Given the description of an element on the screen output the (x, y) to click on. 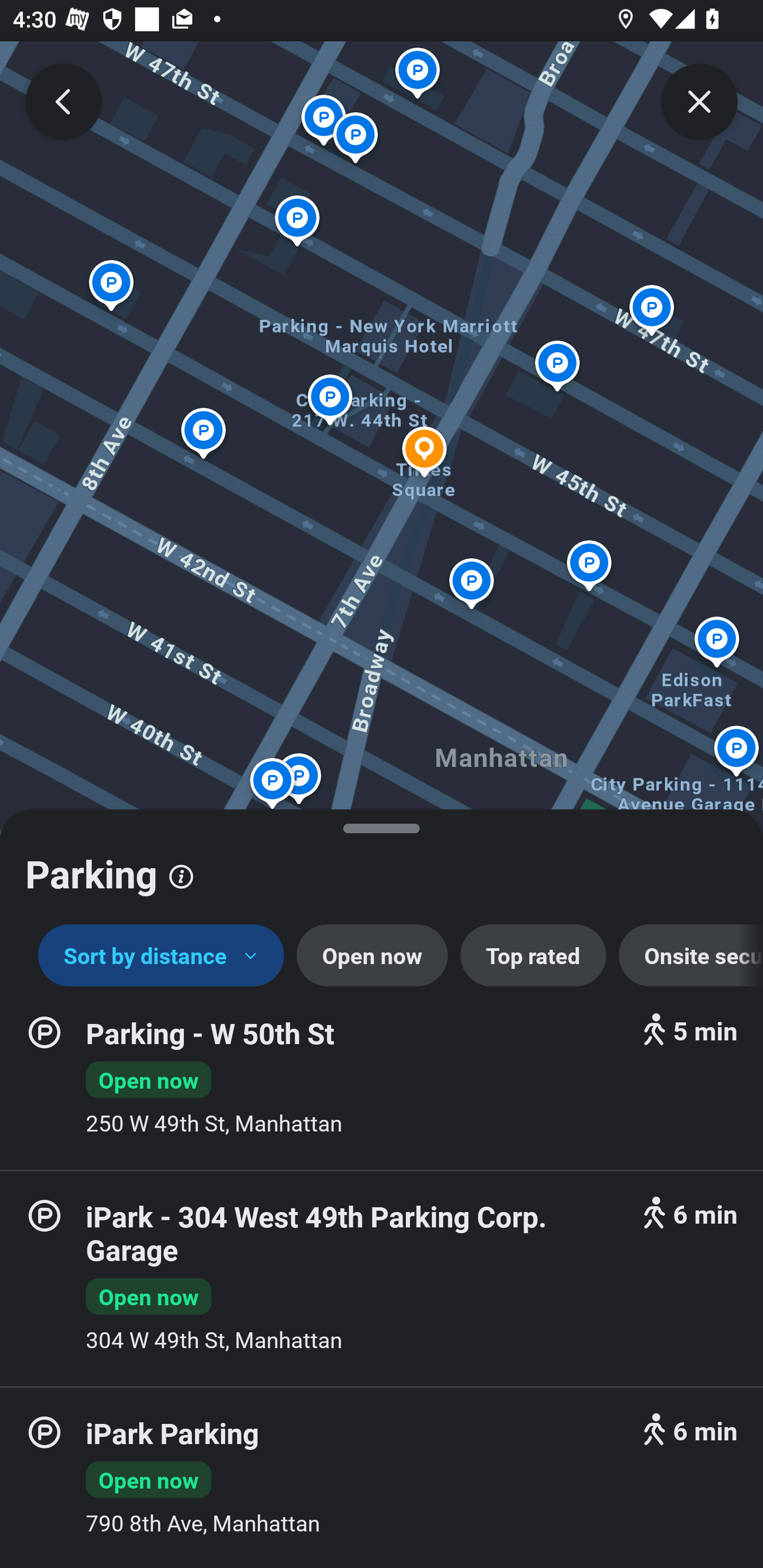
Parking (381, 867)
Sort by distance (160, 955)
Open now (371, 955)
Top rated (532, 955)
Onsite security (690, 955)
